Given the description of an element on the screen output the (x, y) to click on. 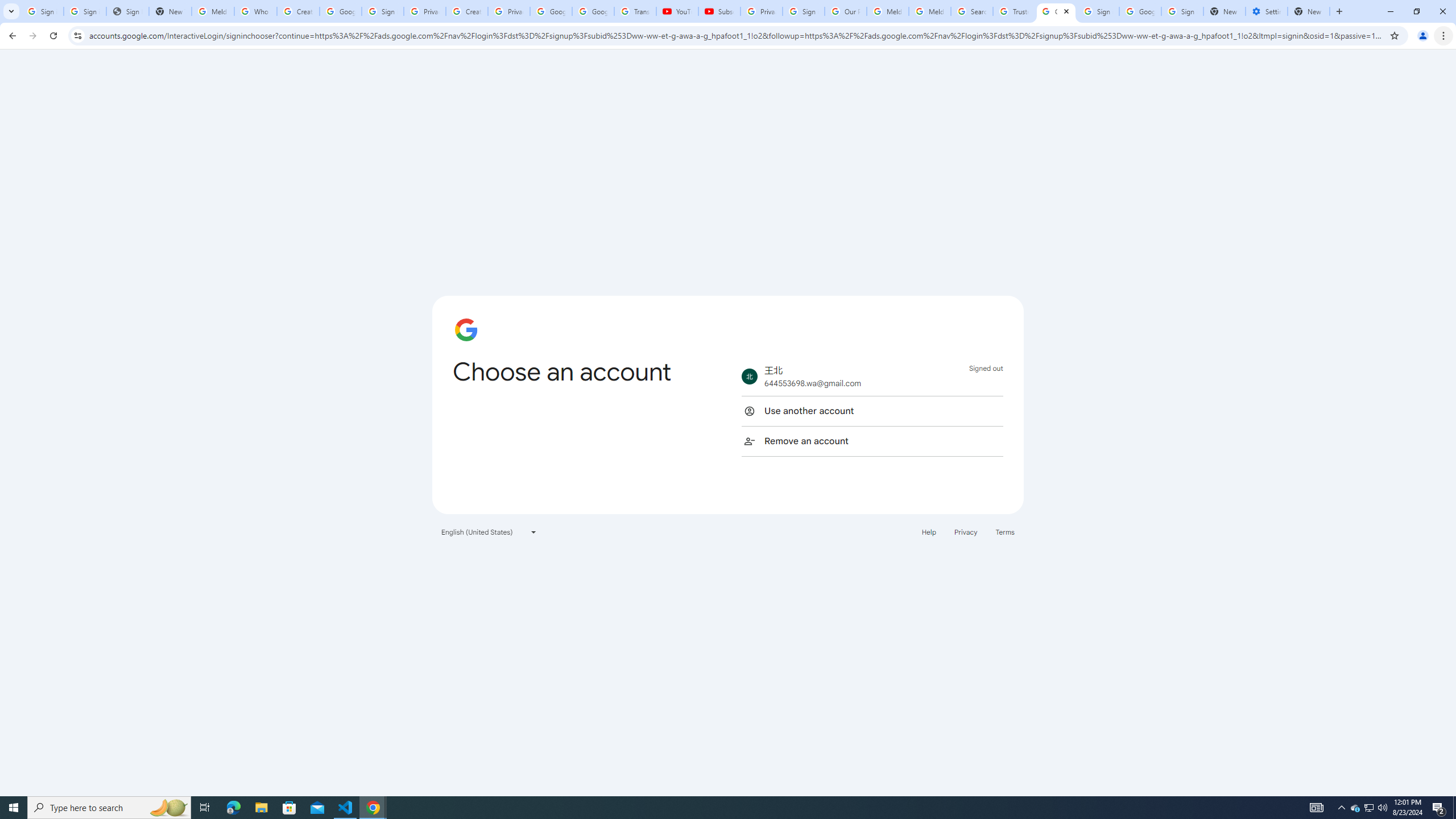
Reload (52, 35)
Google Ads - Sign in (1055, 11)
Settings - Addresses and more (1266, 11)
Sign in - Google Accounts (803, 11)
Back (10, 35)
Sign in - Google Accounts (85, 11)
Search tabs (10, 11)
View site information (77, 35)
Use another account (871, 410)
